Given the description of an element on the screen output the (x, y) to click on. 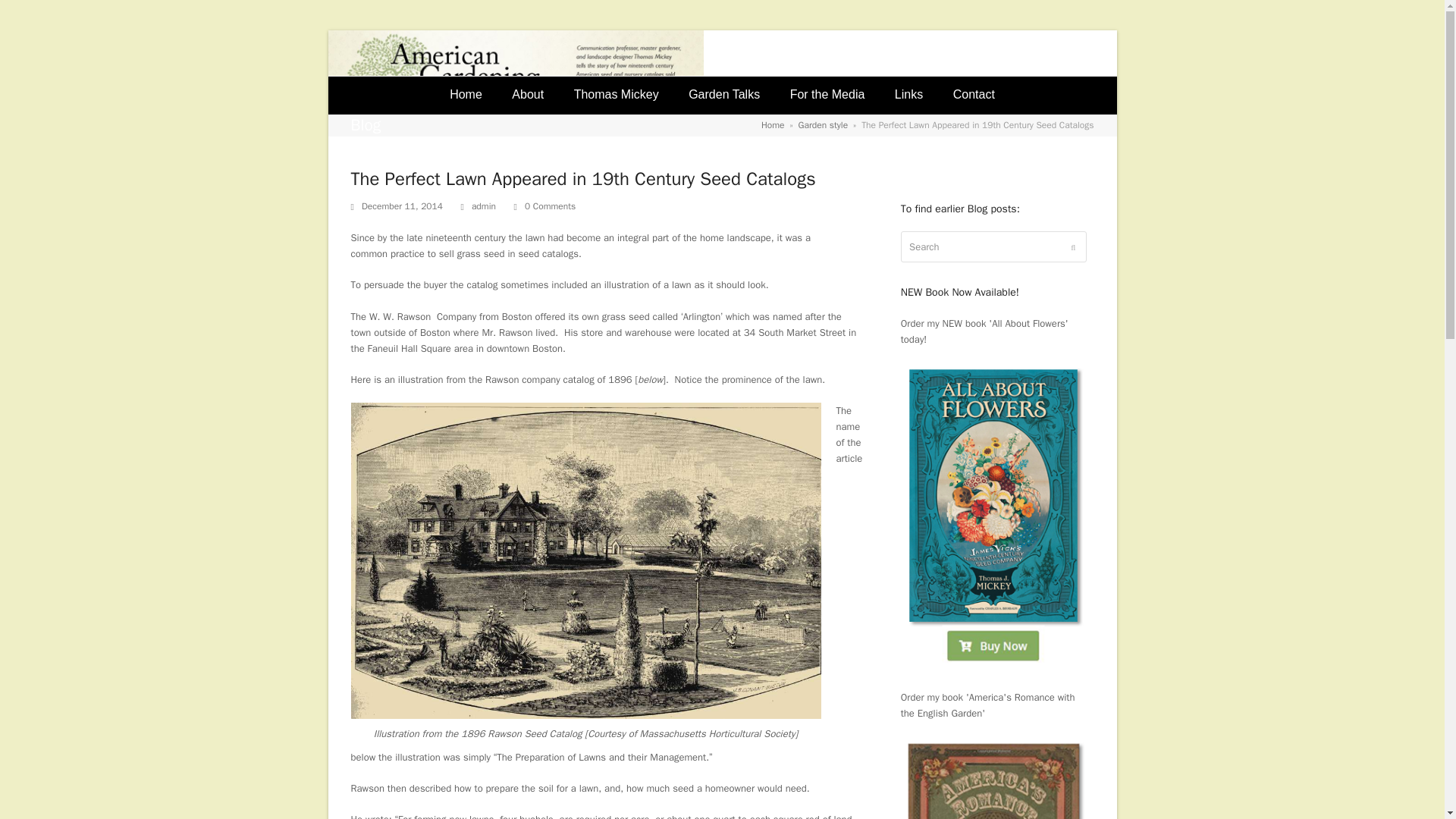
0 Comments (549, 206)
Home (772, 124)
Garden Talks (724, 95)
Contact (974, 95)
admin (483, 205)
0 Comments (544, 206)
Posts by admin (483, 205)
Garden style (822, 124)
Links (908, 95)
Thomas Mickey (616, 95)
Home (465, 95)
About (528, 95)
For the Media (826, 95)
